Given the description of an element on the screen output the (x, y) to click on. 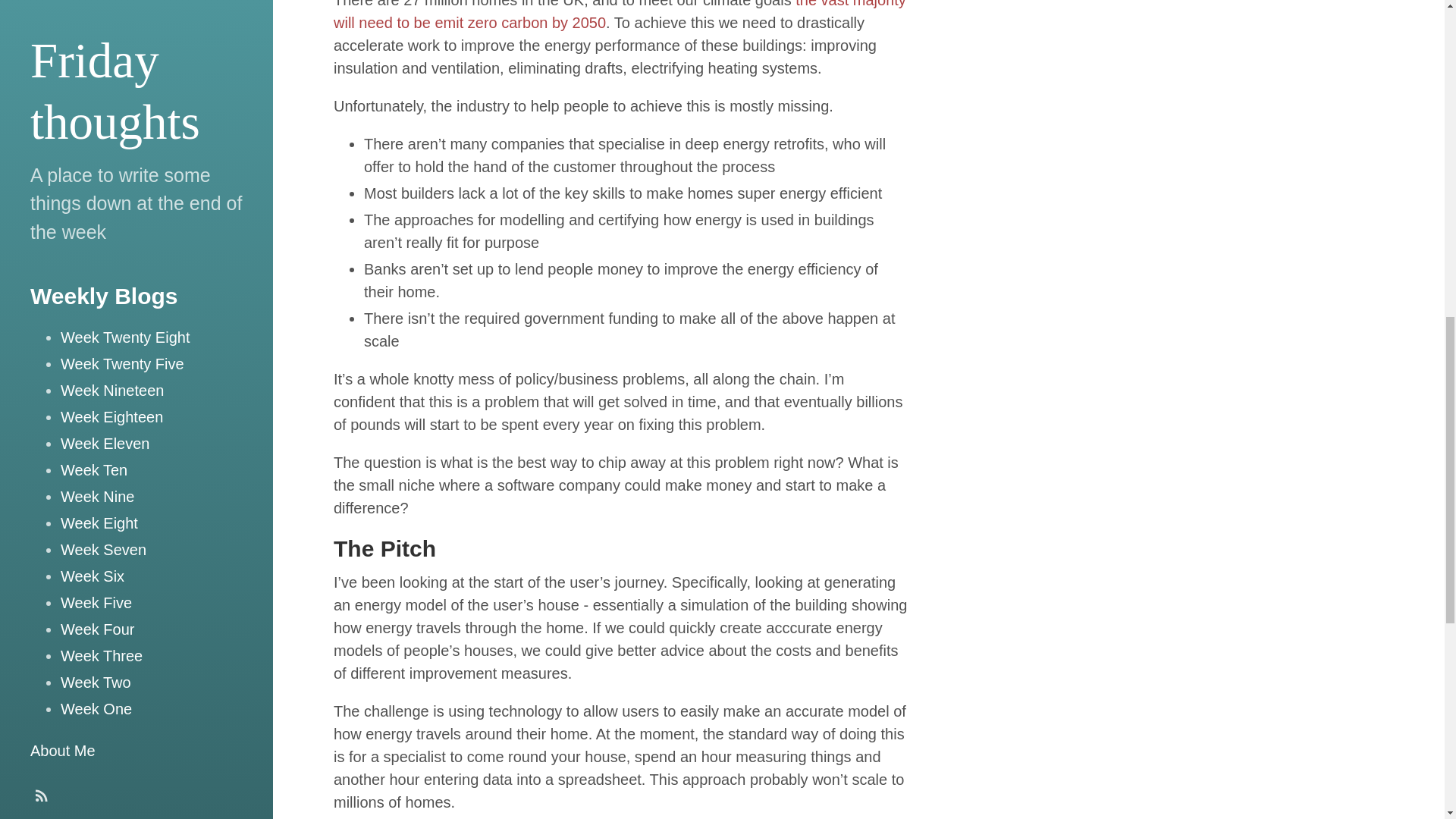
the vast majority will need to be emit zero carbon by 2050 (619, 15)
MIT License. (130, 11)
